Given the description of an element on the screen output the (x, y) to click on. 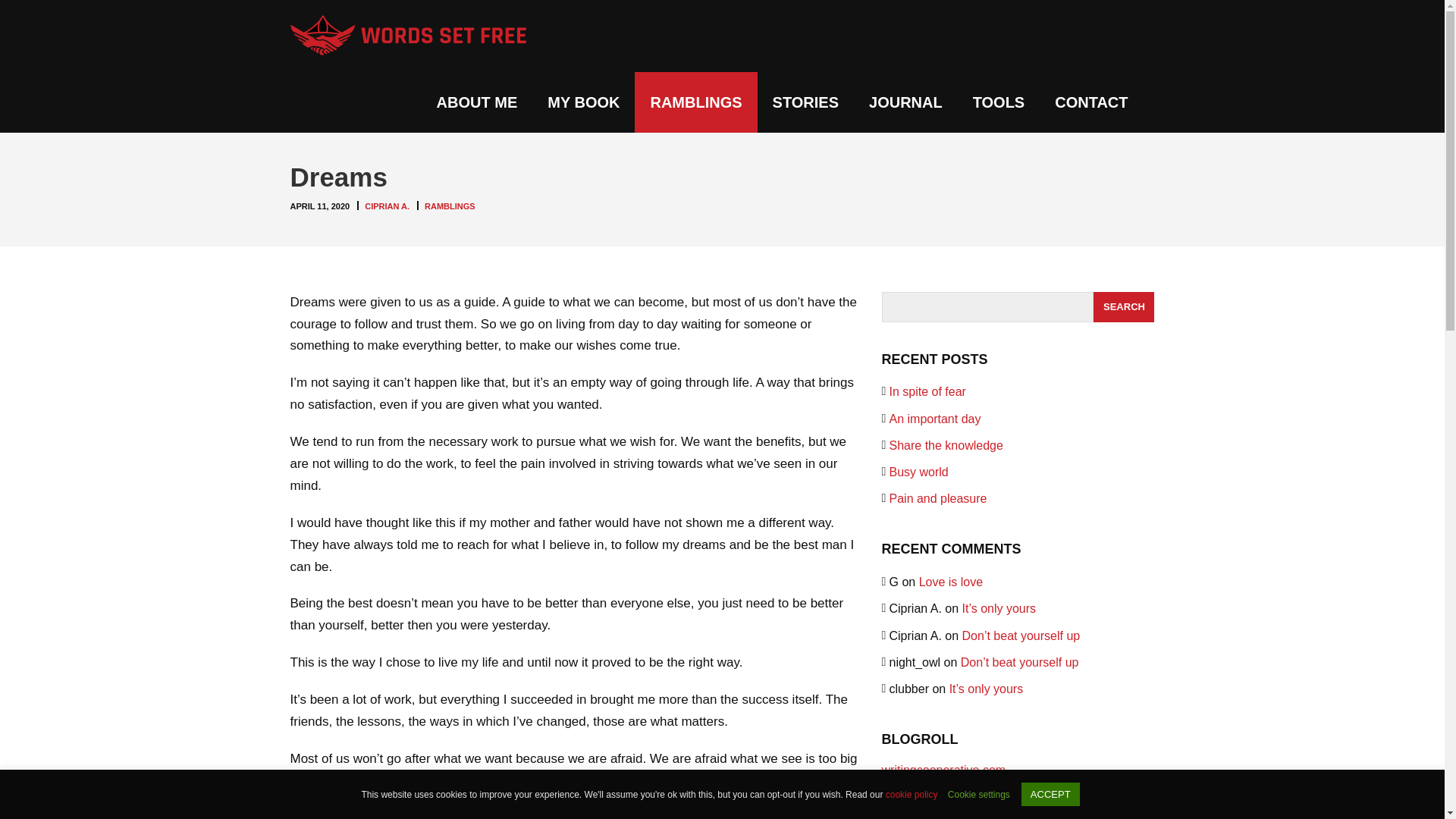
Stories (805, 102)
medium.com (915, 814)
An important day (933, 418)
Ramblings (695, 102)
MY BOOK (583, 102)
In spite of fear (926, 391)
RAMBLINGS (695, 102)
Journal (905, 102)
CONTACT (1090, 102)
Share the knowledge (945, 445)
Contact (1090, 102)
Busy world (917, 472)
Tools (999, 102)
Pain and pleasure (937, 498)
writingcooperative.com (943, 769)
